Given the description of an element on the screen output the (x, y) to click on. 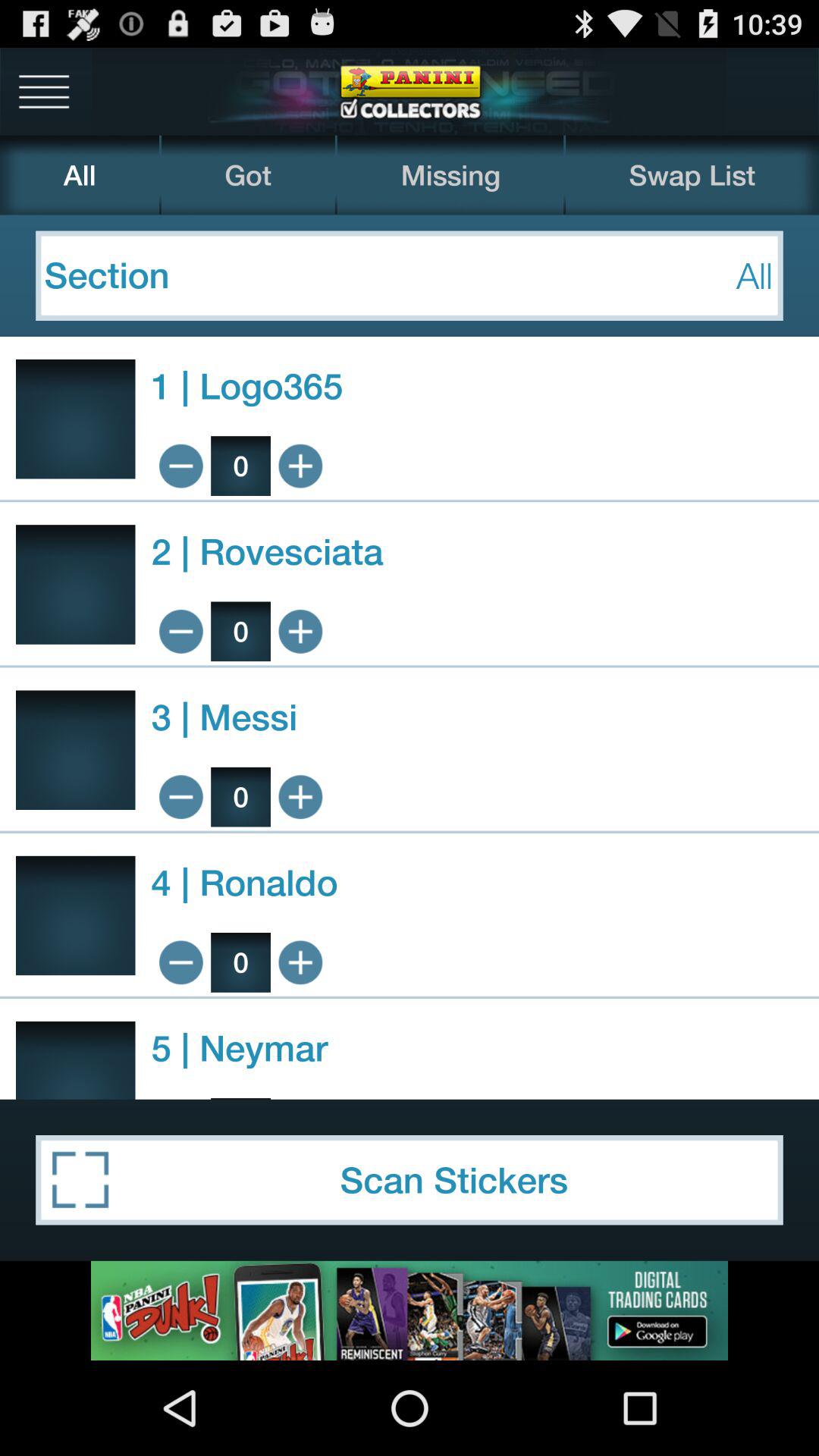
minimize (181, 631)
